Given the description of an element on the screen output the (x, y) to click on. 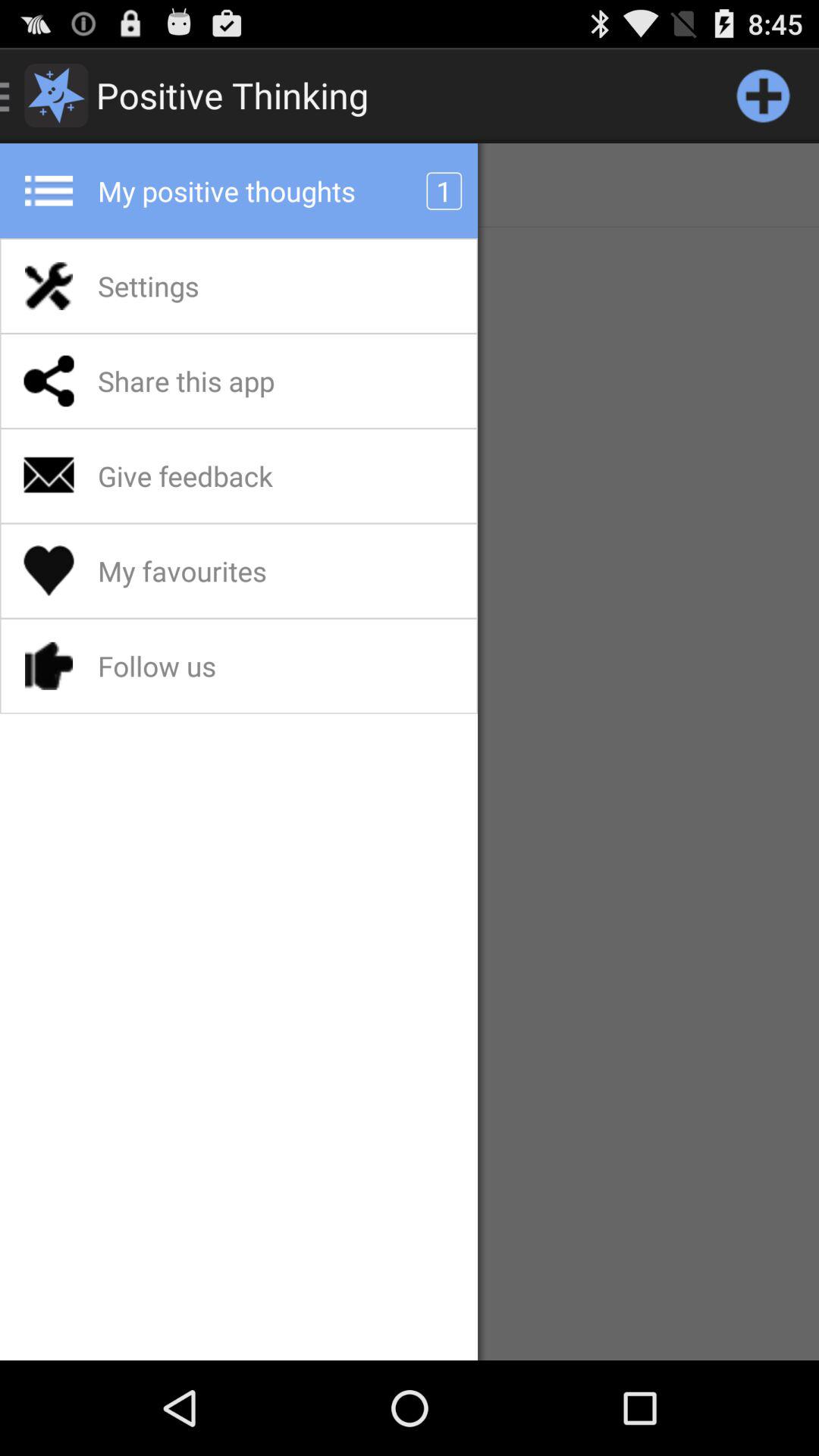
flip until the 1 app (443, 190)
